Given the description of an element on the screen output the (x, y) to click on. 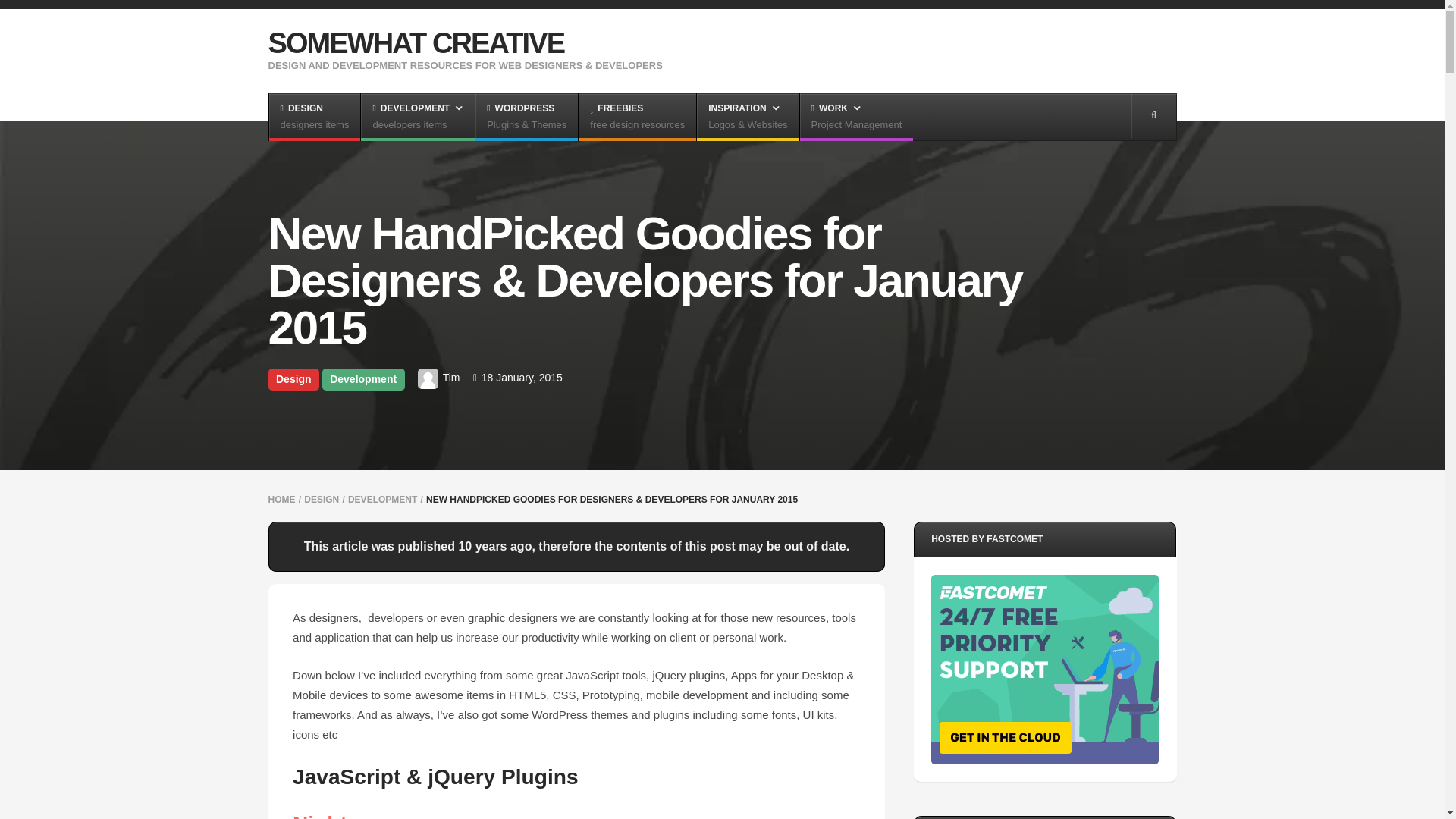
View all posts in Development (362, 379)
Development (313, 116)
DESIGN (362, 379)
Design (321, 499)
SOMEWHAT CREATIVE (636, 116)
View all posts in Design (293, 379)
Tim (415, 42)
